Given the description of an element on the screen output the (x, y) to click on. 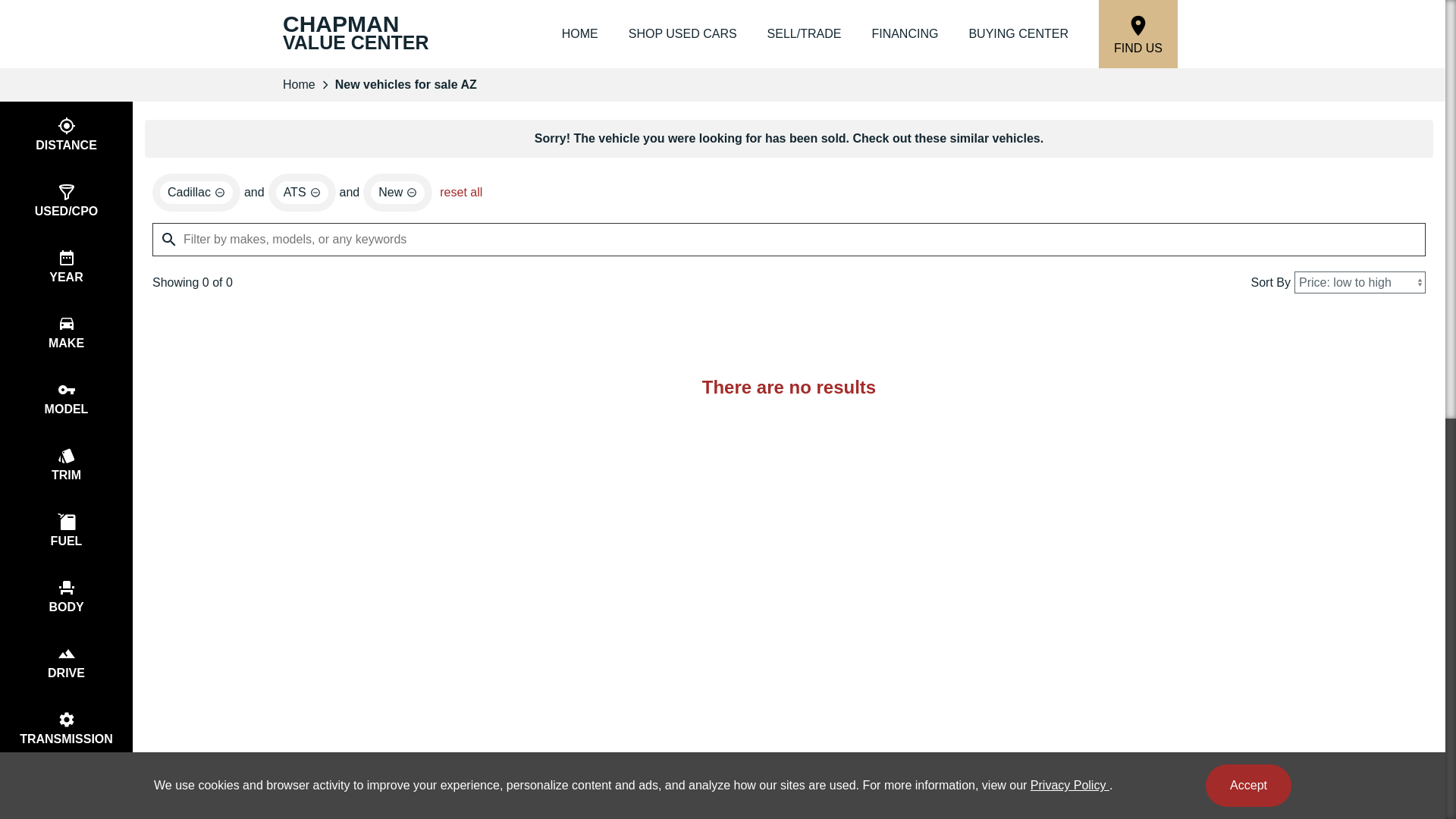
DISTANCE (66, 134)
FIND US (1138, 33)
MAKE (66, 332)
reset all (460, 192)
Cadillac (196, 191)
MODEL (66, 398)
Home (298, 84)
New (356, 34)
YEAR (398, 191)
TRIM (66, 266)
TRANSMISSION (66, 464)
FUEL (66, 728)
ATS (66, 530)
SHOP USED CARS (302, 191)
